Given the description of an element on the screen output the (x, y) to click on. 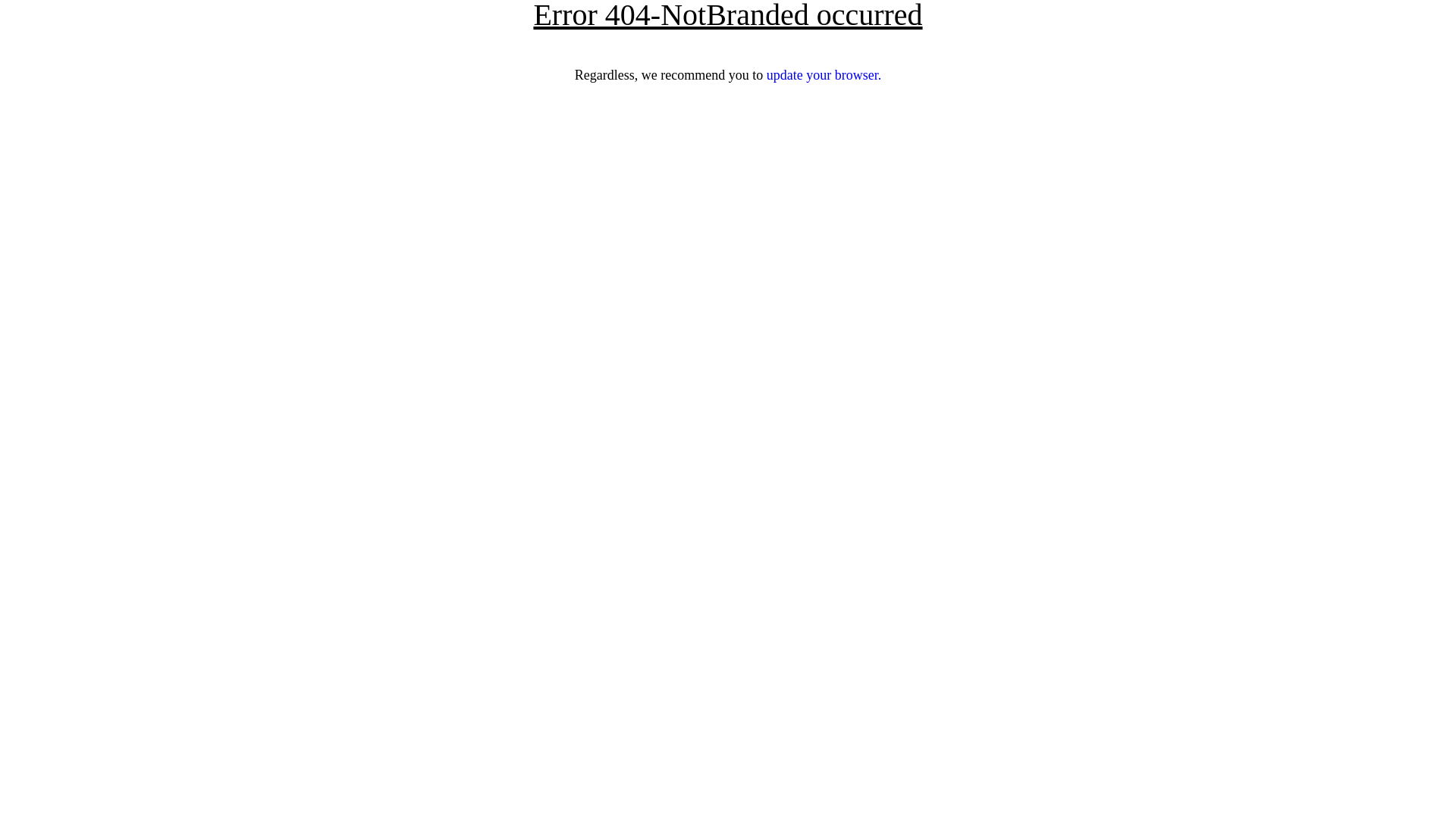
update your browser. Element type: text (823, 74)
